Given the description of an element on the screen output the (x, y) to click on. 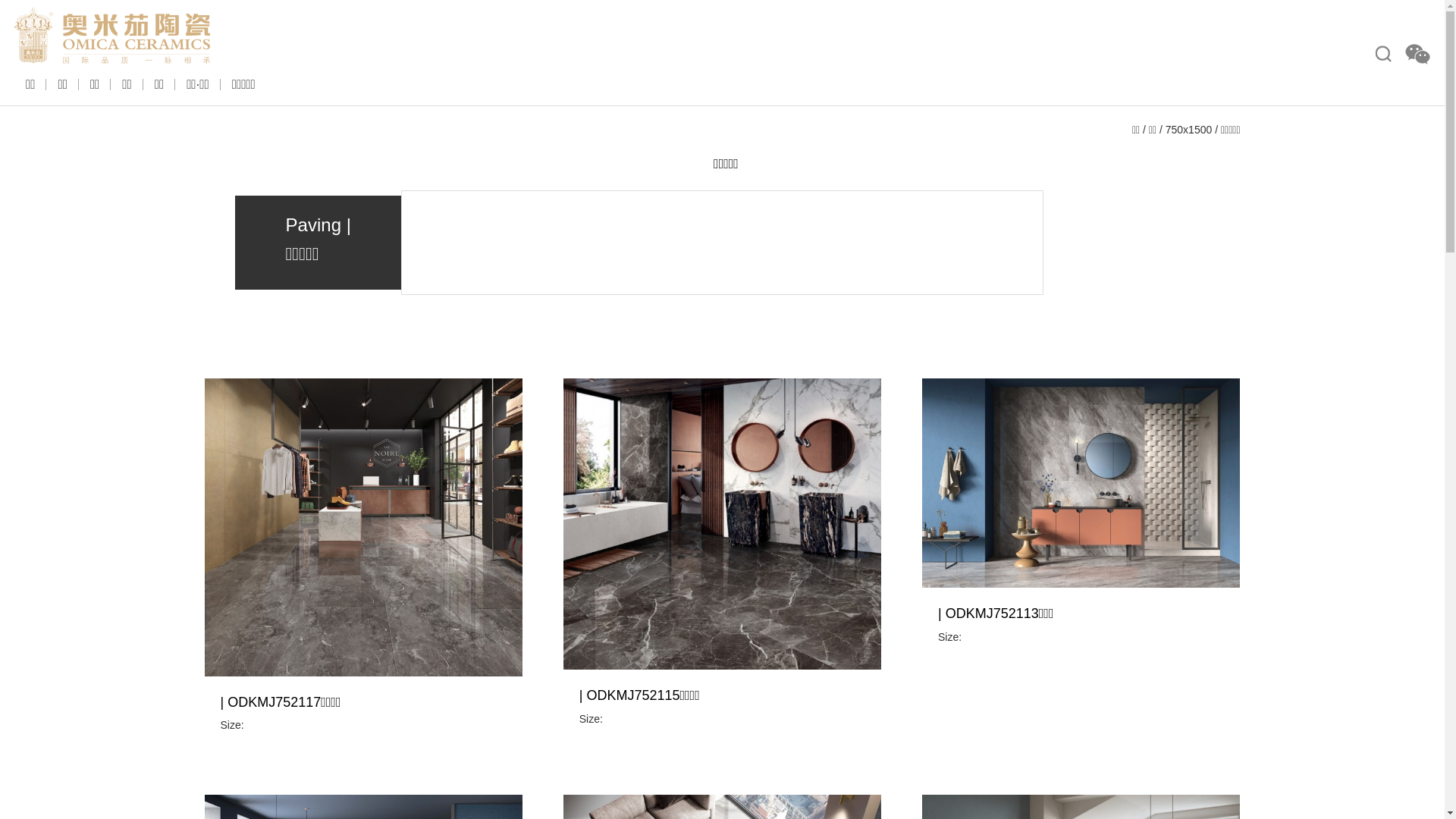
750x1500 Element type: text (1188, 129)
